Given the description of an element on the screen output the (x, y) to click on. 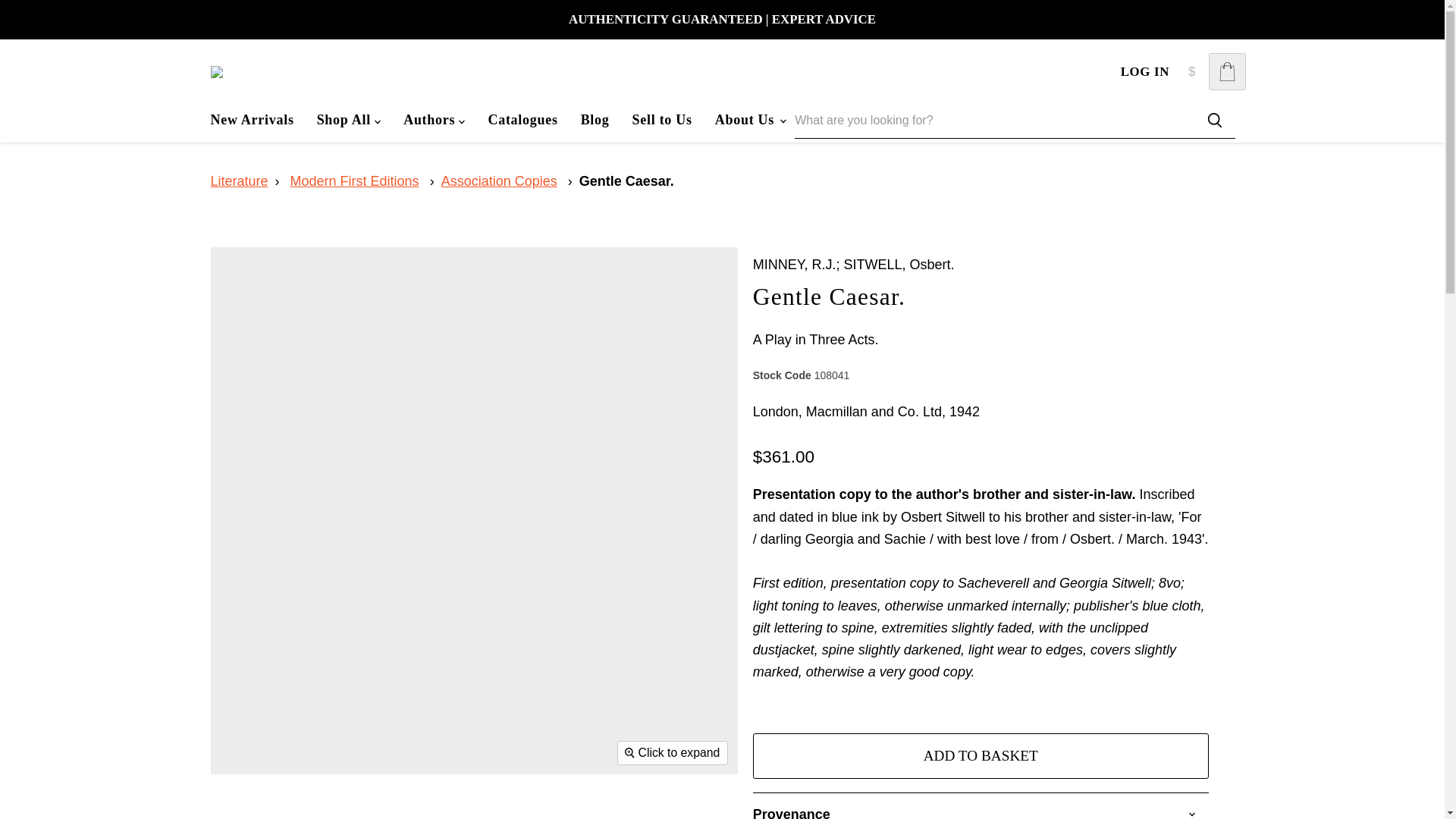
Modern First Editions (354, 181)
View cart (1227, 71)
MINNEY, R.J.; SITWELL, Osbert. (853, 264)
Association Copies (499, 181)
Literature (239, 181)
New Arrivals (251, 119)
LOG IN (1144, 71)
